Given the description of an element on the screen output the (x, y) to click on. 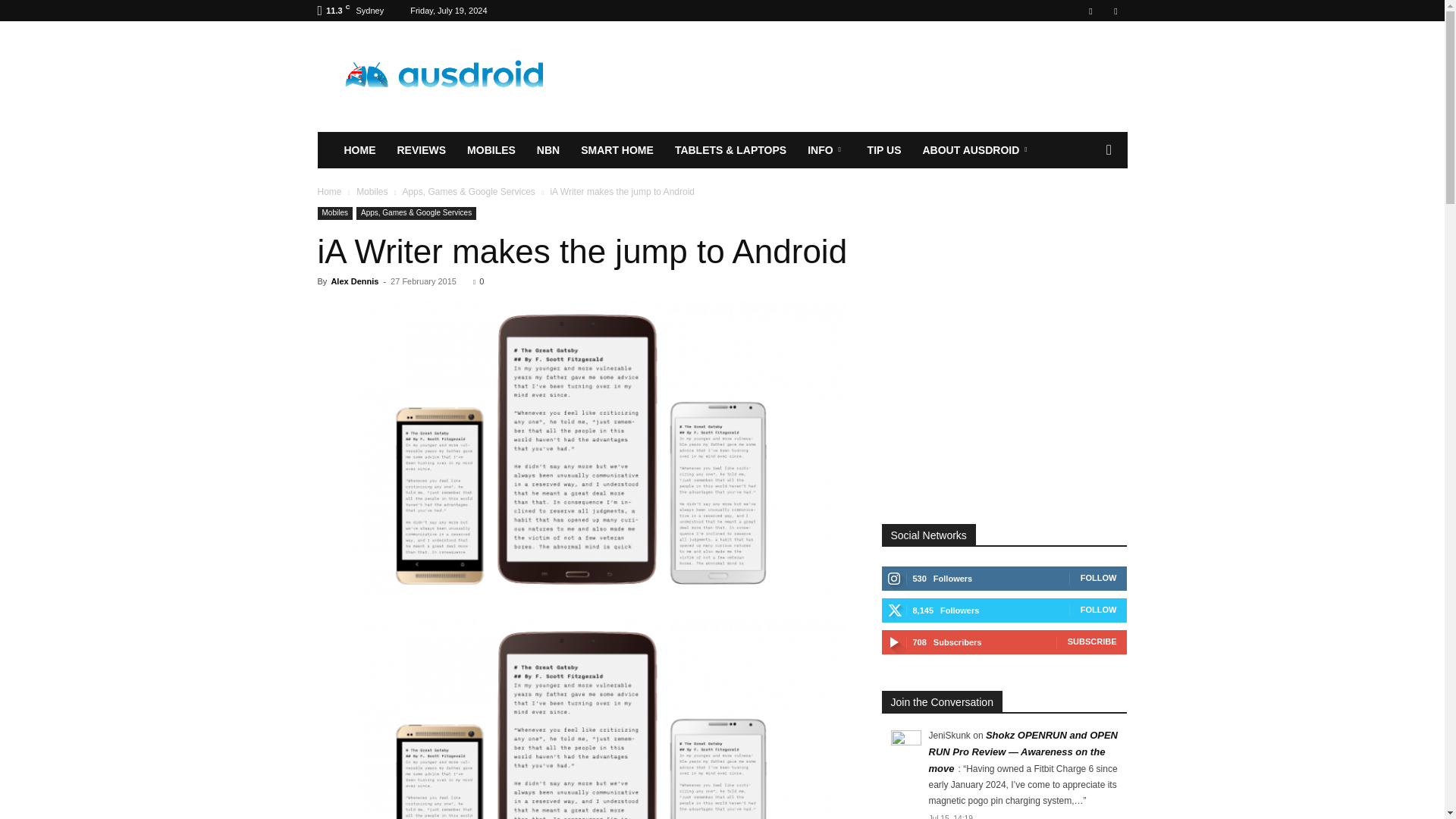
MOBILES (491, 149)
INFO (826, 149)
NBN (547, 149)
View all posts in Mobiles (371, 191)
Twitter (1114, 10)
REVIEWS (422, 149)
SMART HOME (616, 149)
Telegram (1090, 10)
HOME (360, 149)
Ausdroid Logo (445, 76)
